Given the description of an element on the screen output the (x, y) to click on. 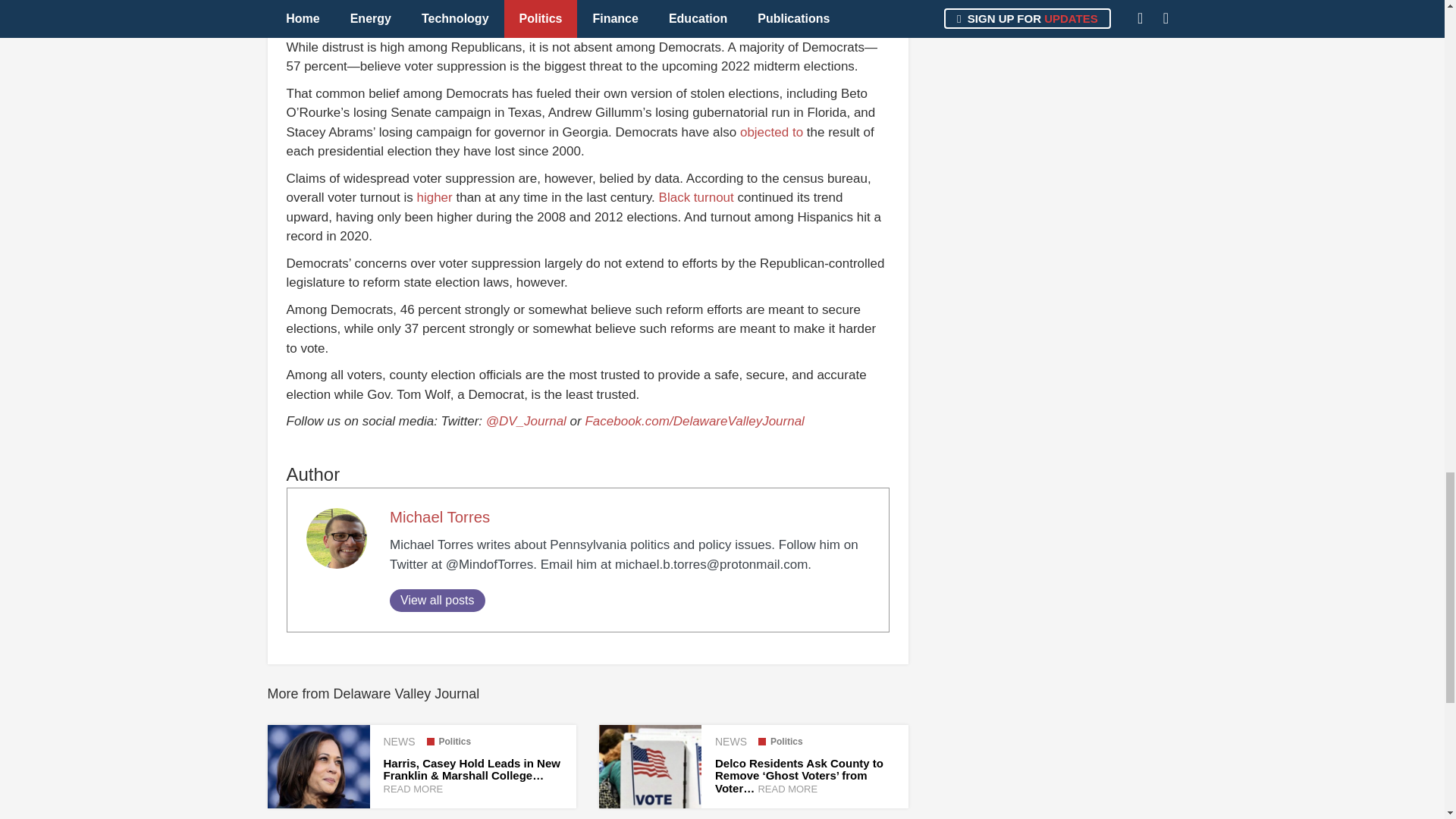
higher (433, 197)
Politics (448, 741)
Michael Torres (439, 516)
View all posts in Politics (448, 741)
Black turnout (696, 197)
objected to (771, 132)
View all posts in Politics (780, 741)
View all posts (437, 599)
Michael Torres (439, 516)
View all posts (437, 599)
